Given the description of an element on the screen output the (x, y) to click on. 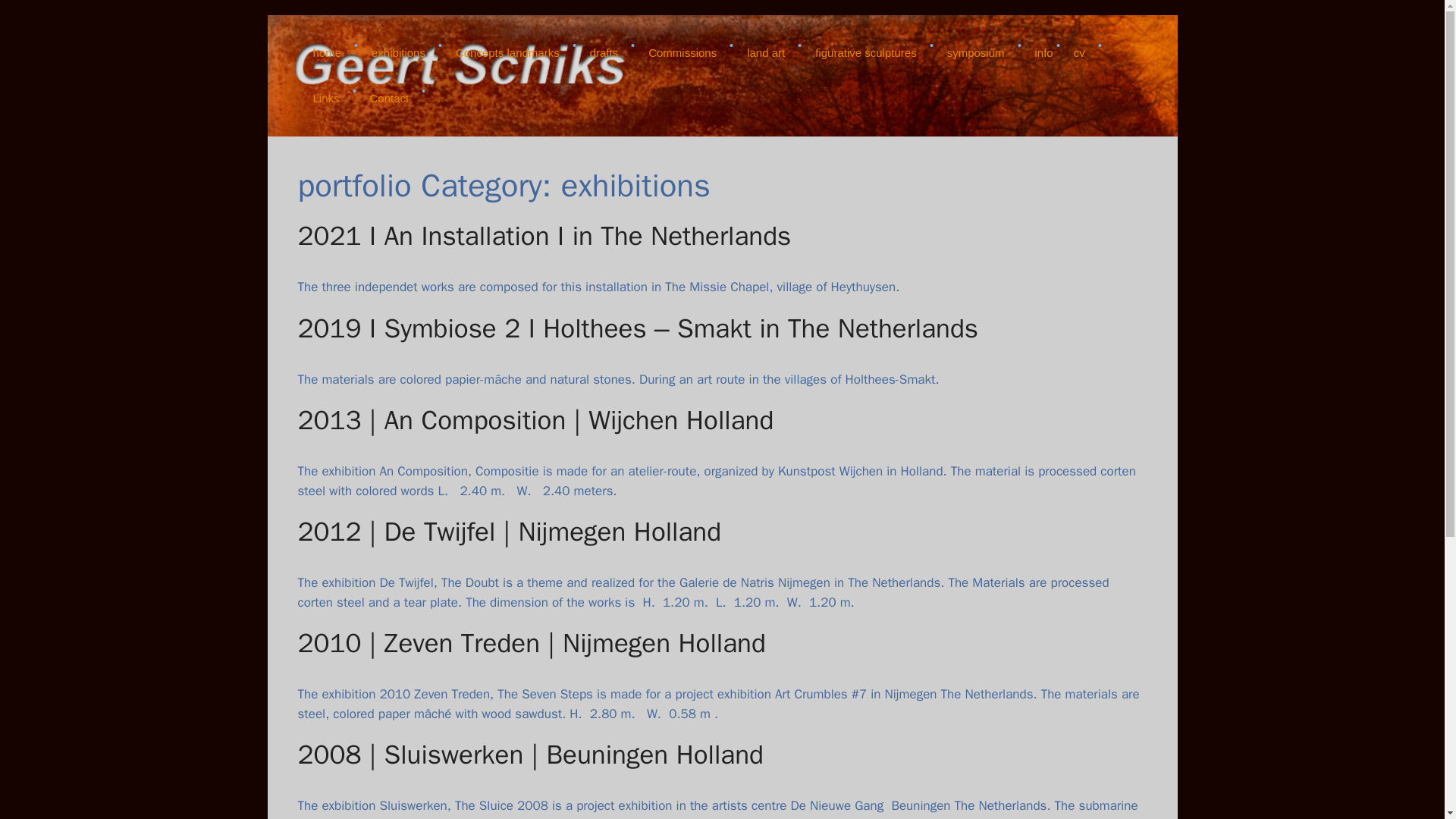
Links (325, 98)
drafts (604, 53)
symposium (975, 53)
Contact (390, 98)
cv (1079, 53)
land art (765, 53)
Commissions (682, 53)
Concepts landmarks (508, 53)
figurative sculptures (865, 53)
2021 I An Installation I in The Netherlands (543, 235)
